Given the description of an element on the screen output the (x, y) to click on. 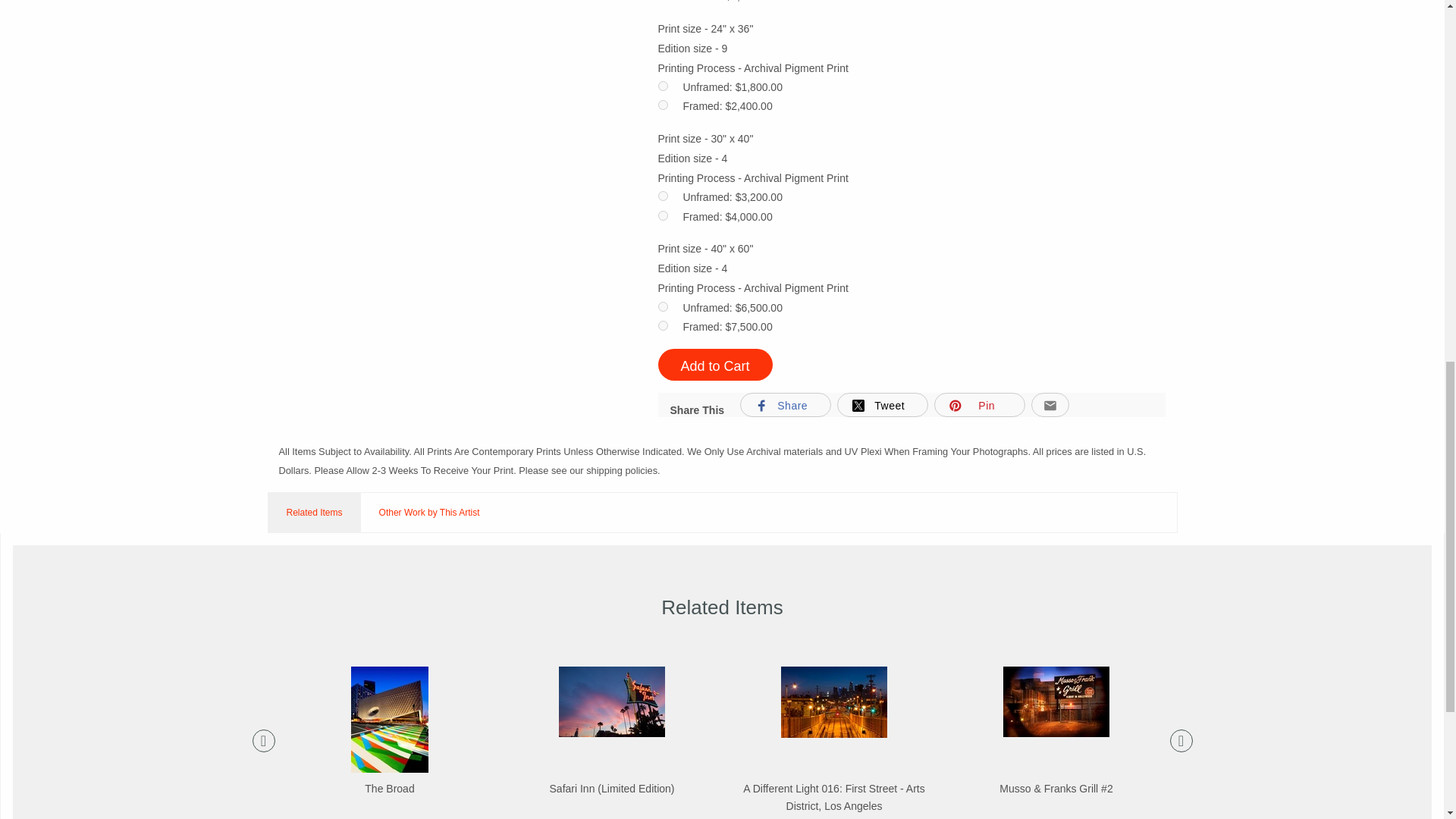
24" x 36"-9-unframed (663, 85)
40" x 60"-4-unframed (663, 307)
40" x 60"-4-framed (663, 325)
30" x 40"-4-framed (663, 215)
24" x 36"-9-framed (663, 104)
30" x 40"-4-unframed (663, 195)
